Given the description of an element on the screen output the (x, y) to click on. 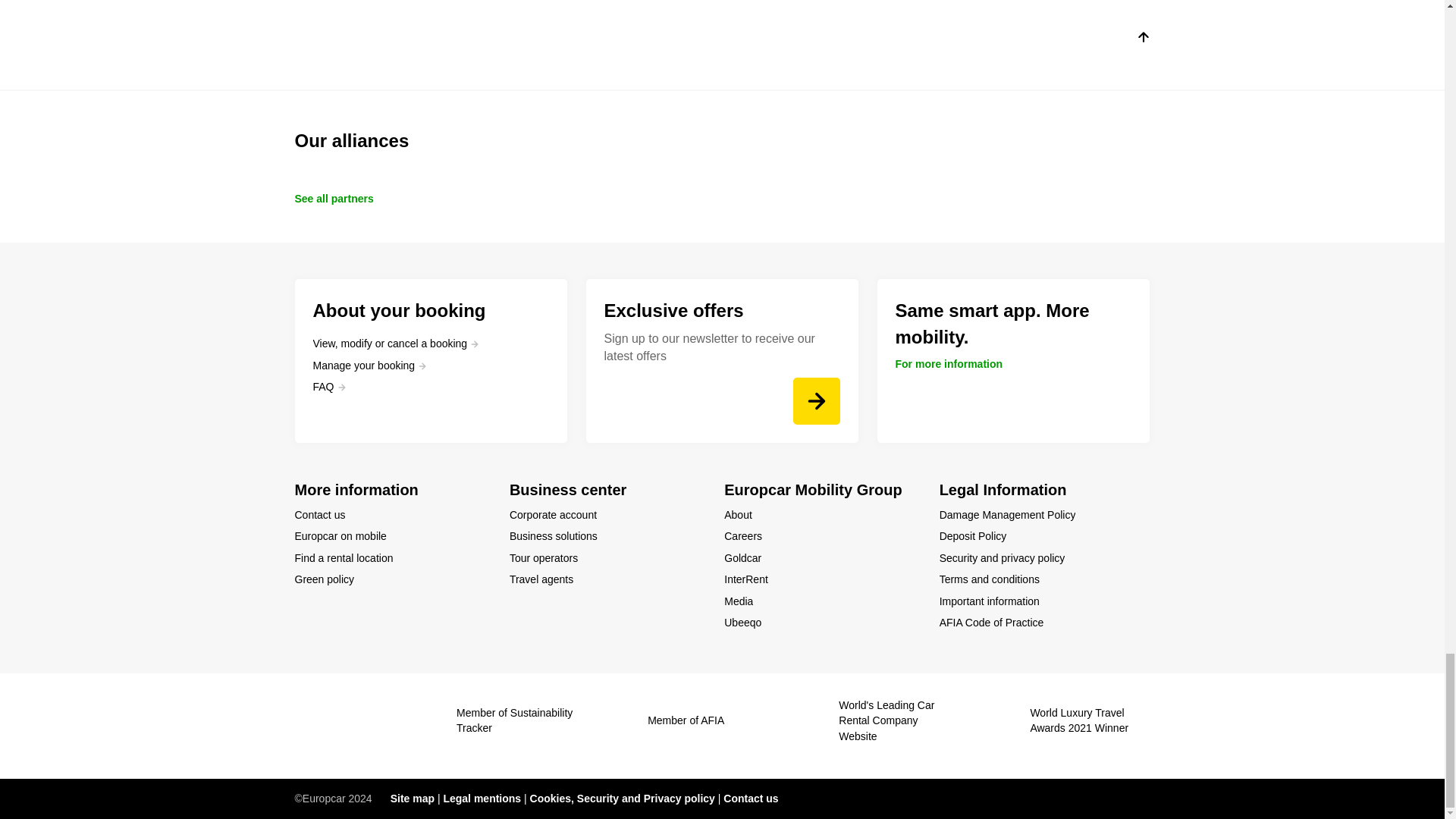
See all partners (333, 198)
Our alliances (722, 140)
Manage your booking (369, 365)
top (1142, 39)
FAQ (329, 386)
View, modify or cancel a booking (396, 343)
